Given the description of an element on the screen output the (x, y) to click on. 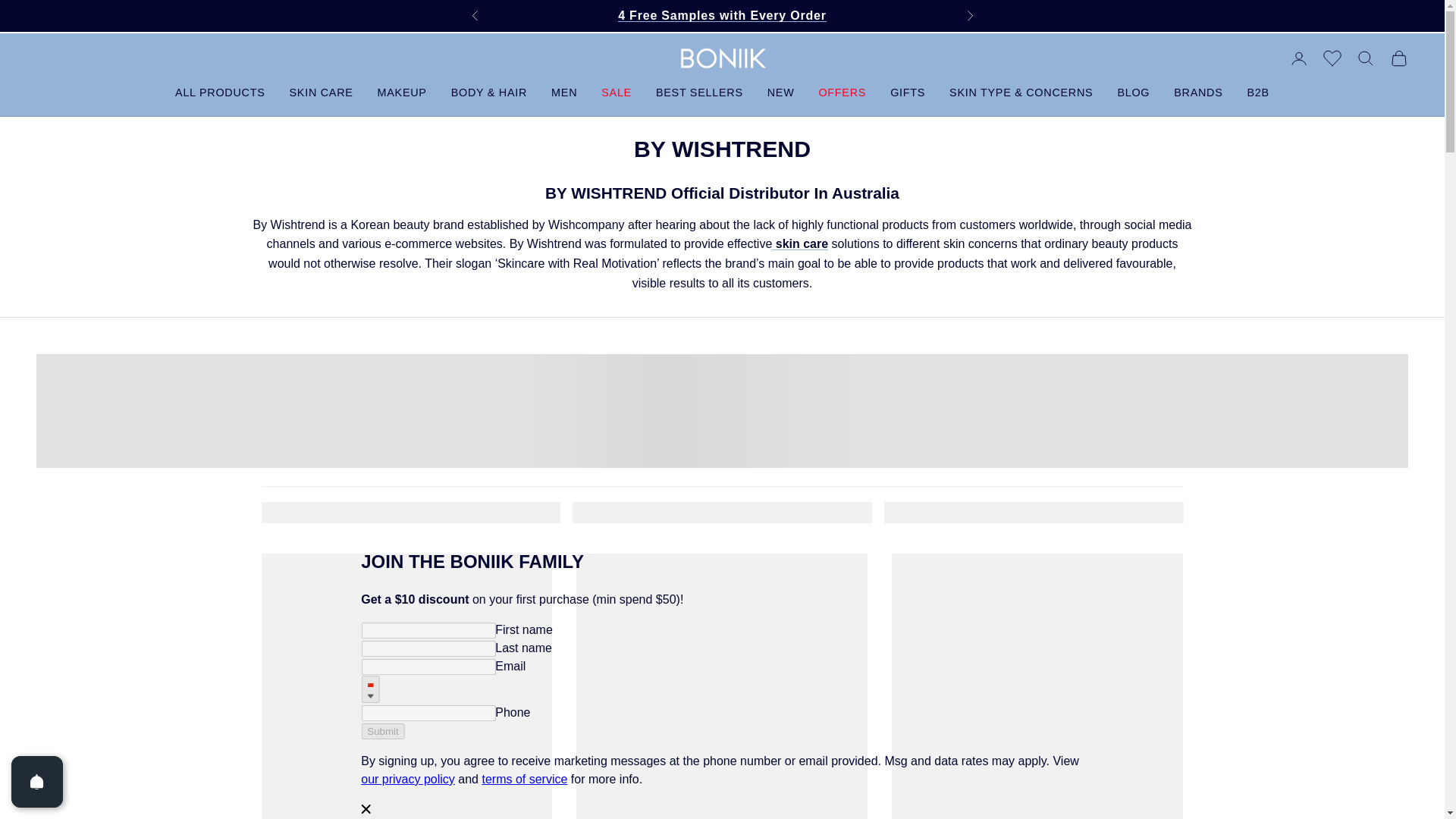
4 Free Samples with Every Order (722, 15)
BONIIK (721, 57)
ALL PRODUCTS (219, 92)
4 Free Samples with Every Order (722, 15)
